Given the description of an element on the screen output the (x, y) to click on. 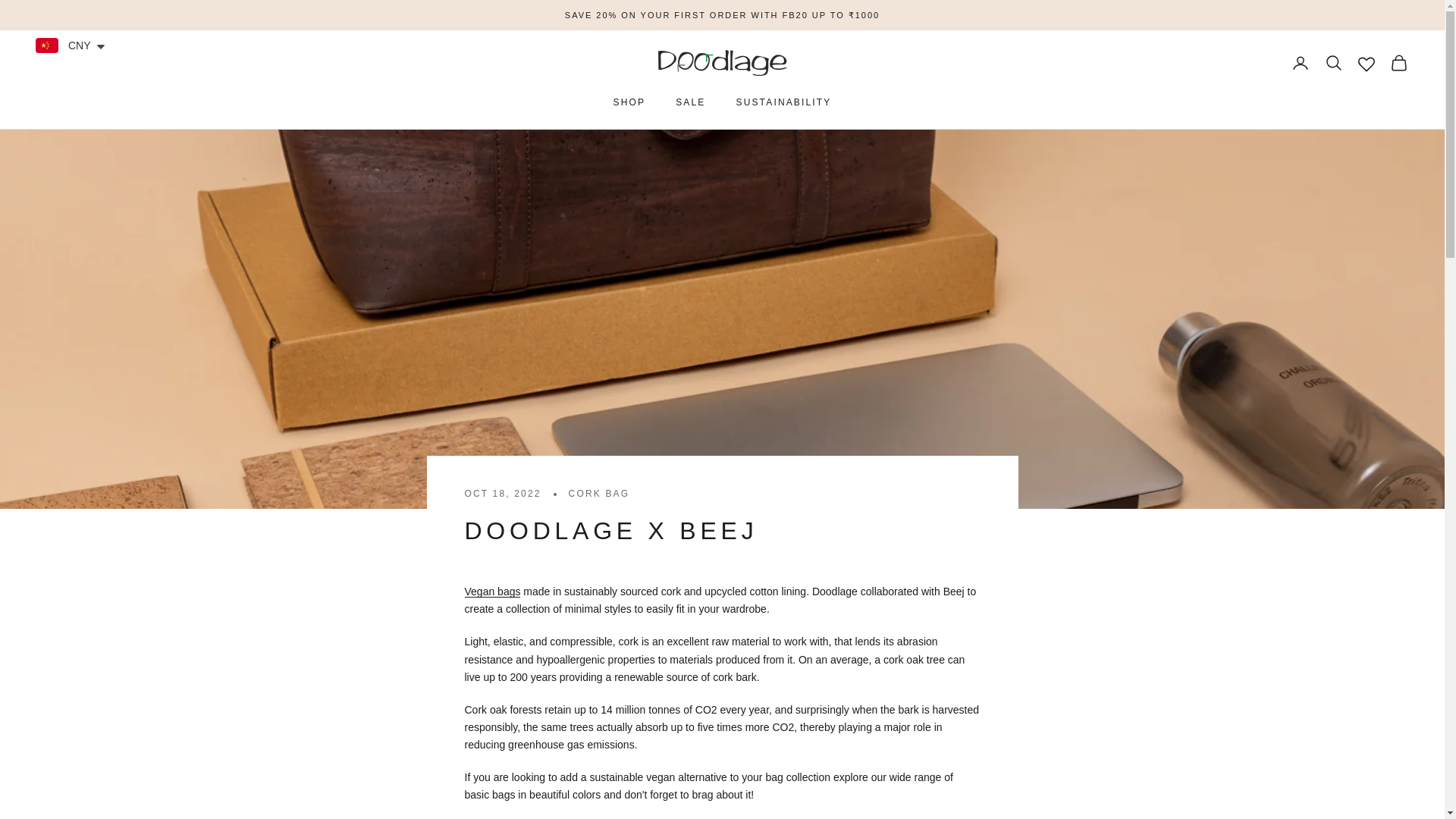
Doodlage (722, 62)
Vegan bag collection (491, 591)
Open account page (1299, 63)
Open cart (1398, 63)
SALE (689, 102)
Open search (1333, 63)
